Given the description of an element on the screen output the (x, y) to click on. 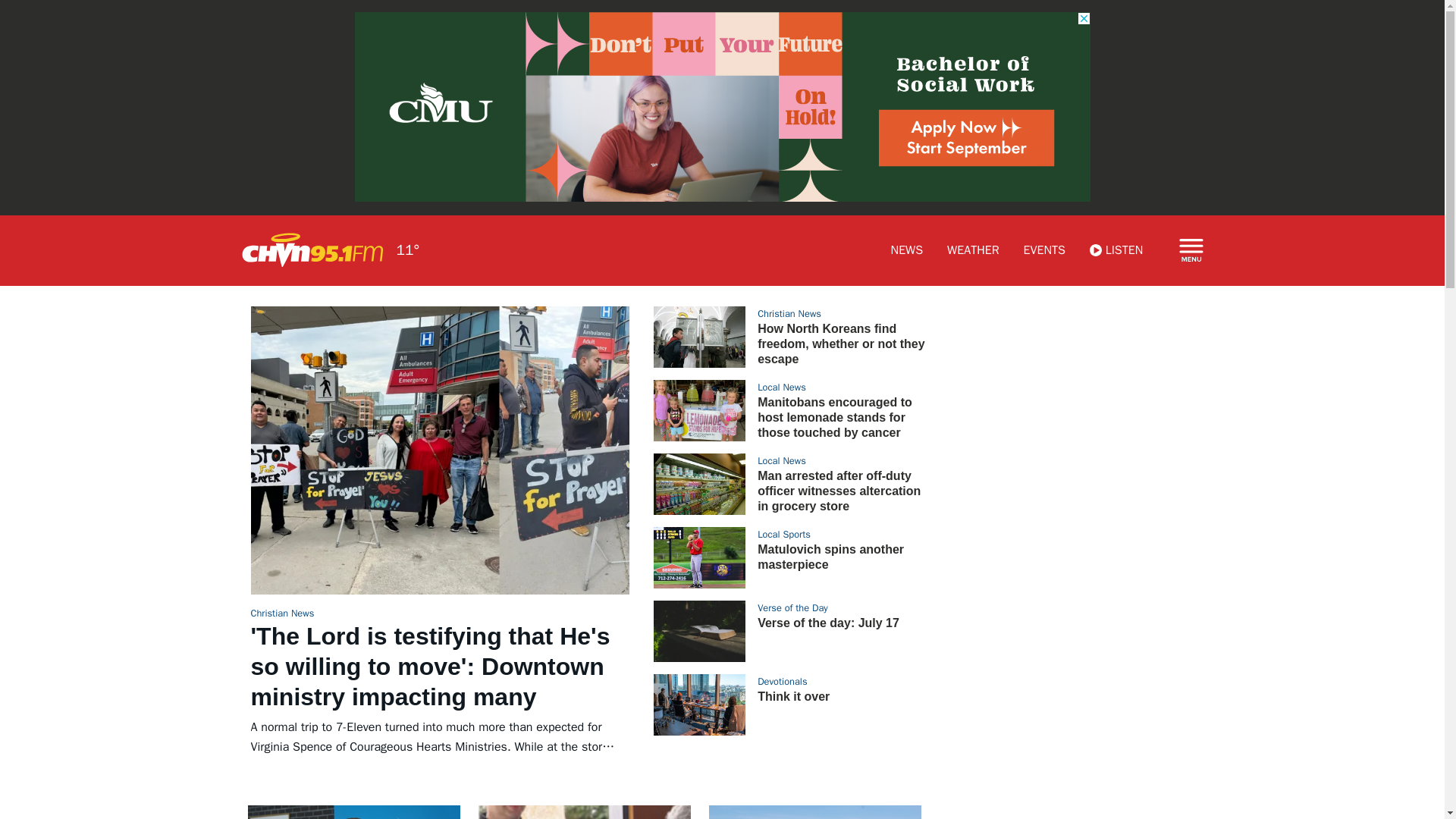
3rd party ad content (1068, 812)
3rd party ad content (1079, 401)
